Given the description of an element on the screen output the (x, y) to click on. 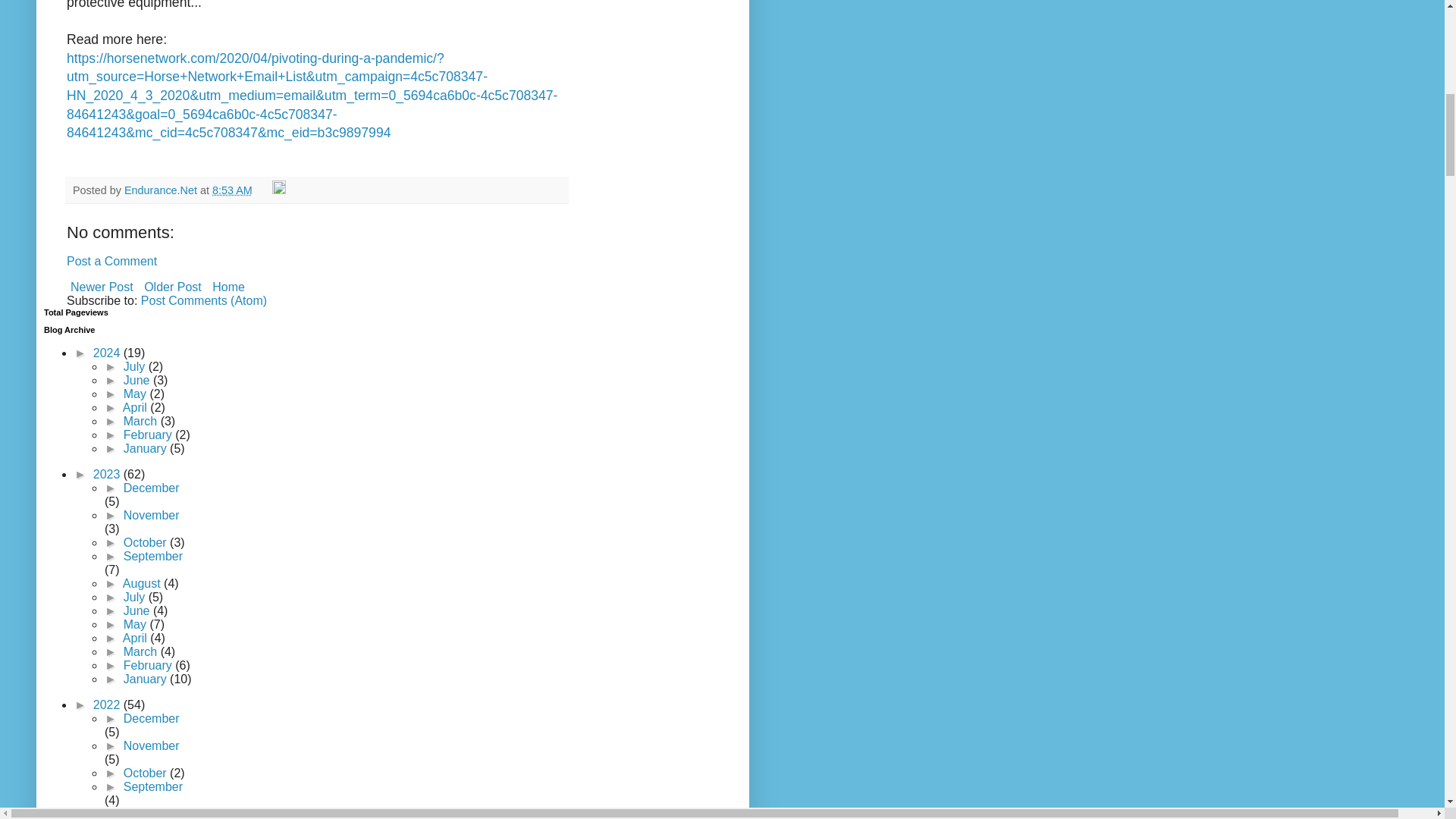
Newer Post (101, 286)
author profile (161, 189)
Post a Comment (111, 260)
Email Post (264, 189)
December (151, 487)
May (136, 393)
November (151, 514)
February (148, 434)
Older Post (172, 286)
permanent link (231, 189)
2023 (108, 473)
8:53 AM (231, 189)
2024 (108, 352)
June (137, 379)
Endurance.Net (161, 189)
